Given the description of an element on the screen output the (x, y) to click on. 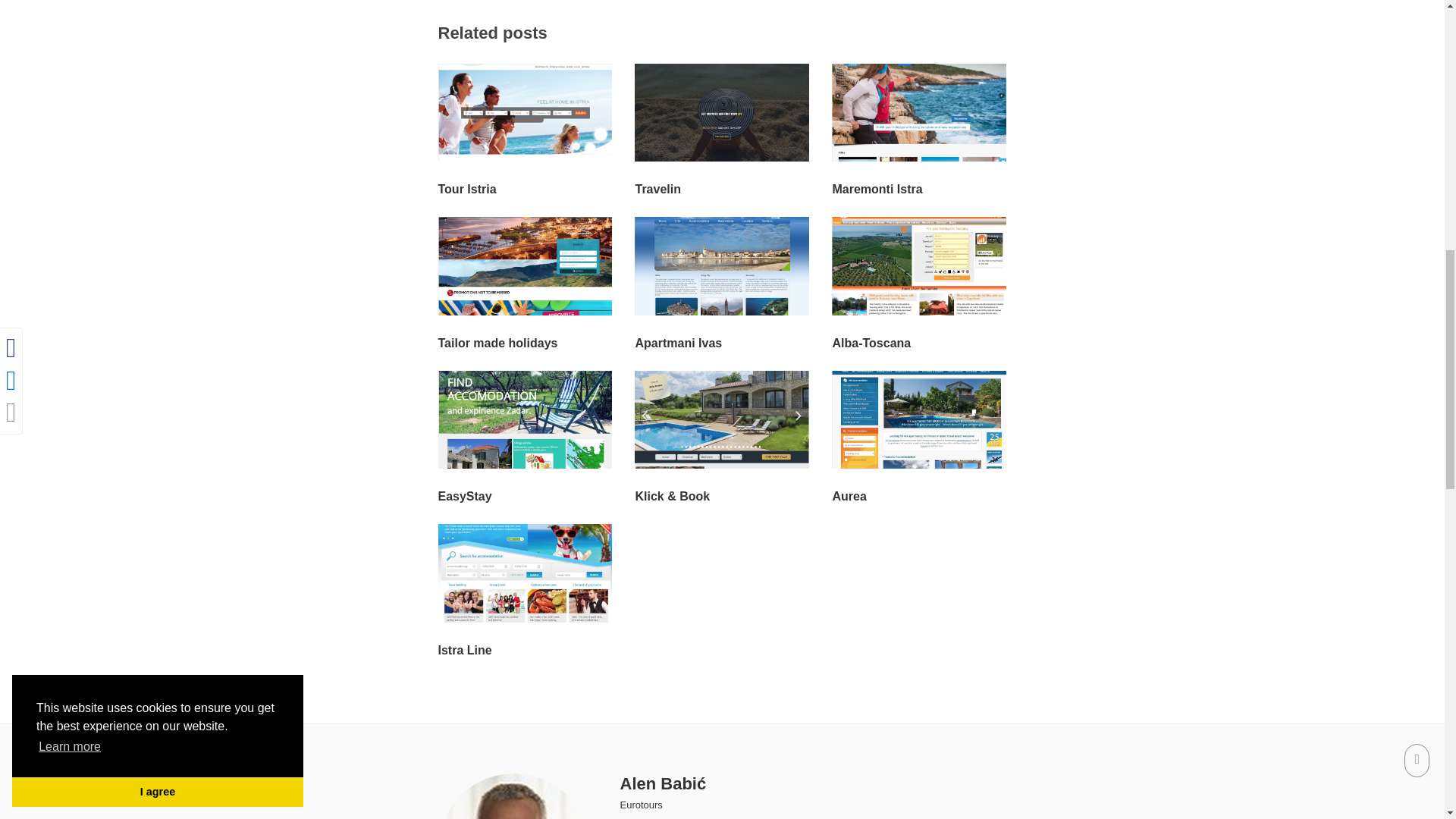
Tailor made holidays (497, 342)
Travelin (656, 188)
Maremonti Istra (876, 188)
Tour Istria (467, 188)
Apartmani Ivas (678, 342)
